Given the description of an element on the screen output the (x, y) to click on. 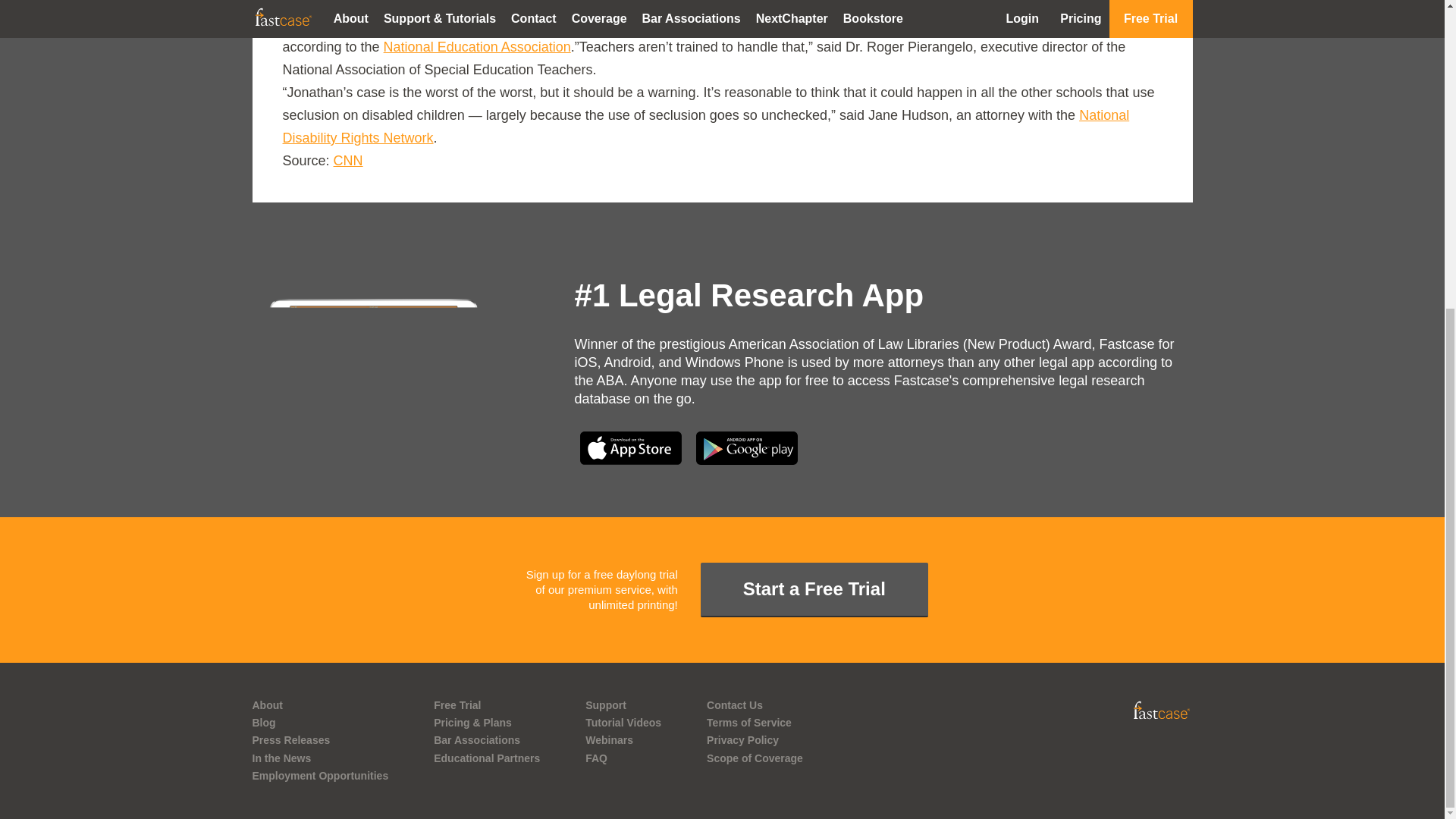
Press Releases (319, 740)
Start a Free Trial (814, 589)
CNN (347, 160)
Employment Opportunities (319, 775)
Bar Associations (486, 740)
Blog (319, 723)
In the News (319, 758)
Tutorial Videos (623, 723)
National Education Association (477, 46)
National Disability Rights Network (705, 126)
